Given the description of an element on the screen output the (x, y) to click on. 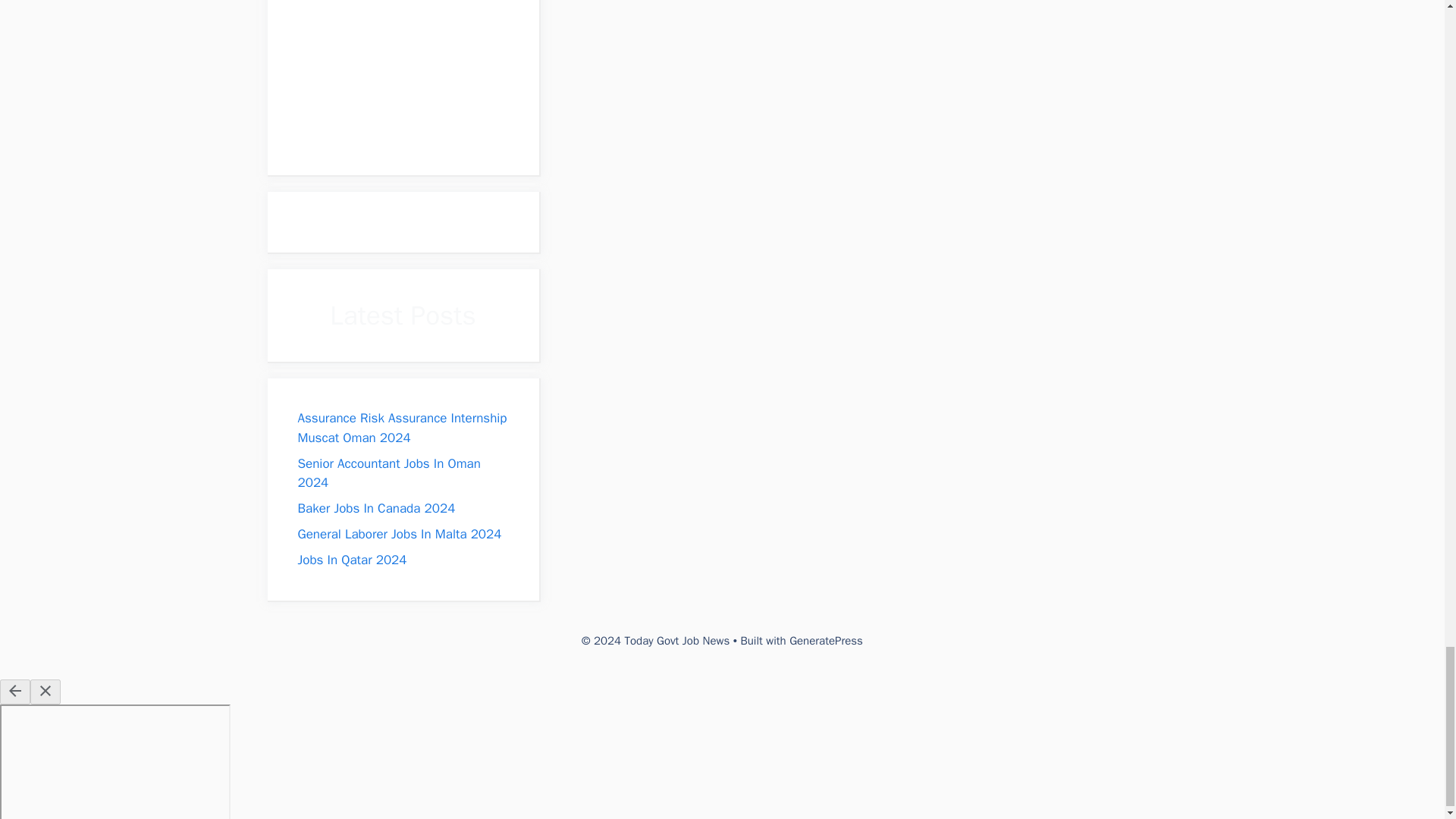
Baker Jobs In Canada 2024 (375, 508)
Senior Accountant Jobs In Oman 2024 (388, 473)
Assurance Risk Assurance Internship Muscat Oman 2024 (401, 427)
Jobs In Qatar 2024 (351, 560)
General Laborer Jobs In Malta 2024 (398, 534)
GeneratePress (826, 640)
